Given the description of an element on the screen output the (x, y) to click on. 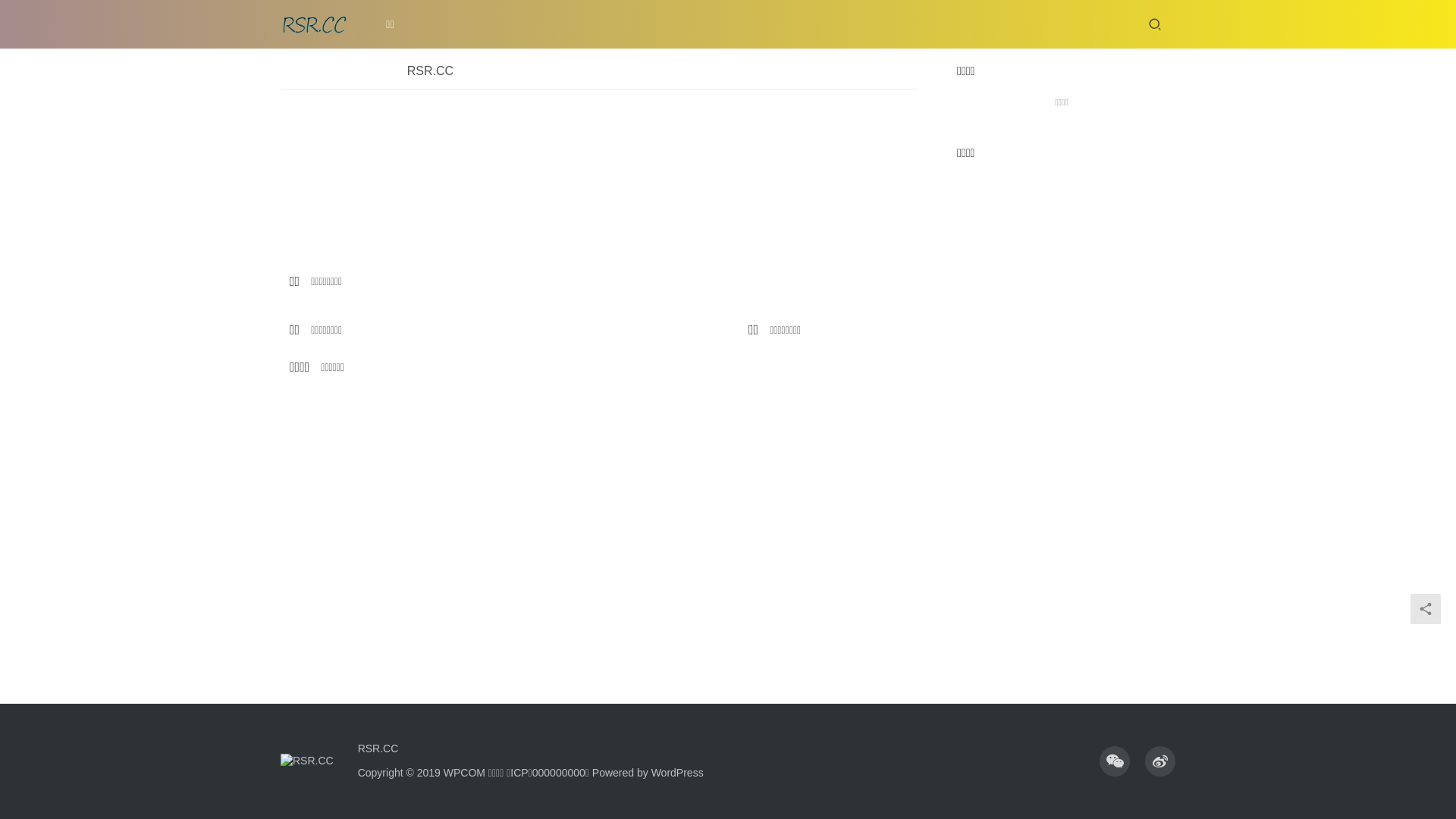
RSR.CC Element type: text (381, 748)
RSR.CC Element type: text (430, 75)
WordPress Element type: text (677, 772)
